Given the description of an element on the screen output the (x, y) to click on. 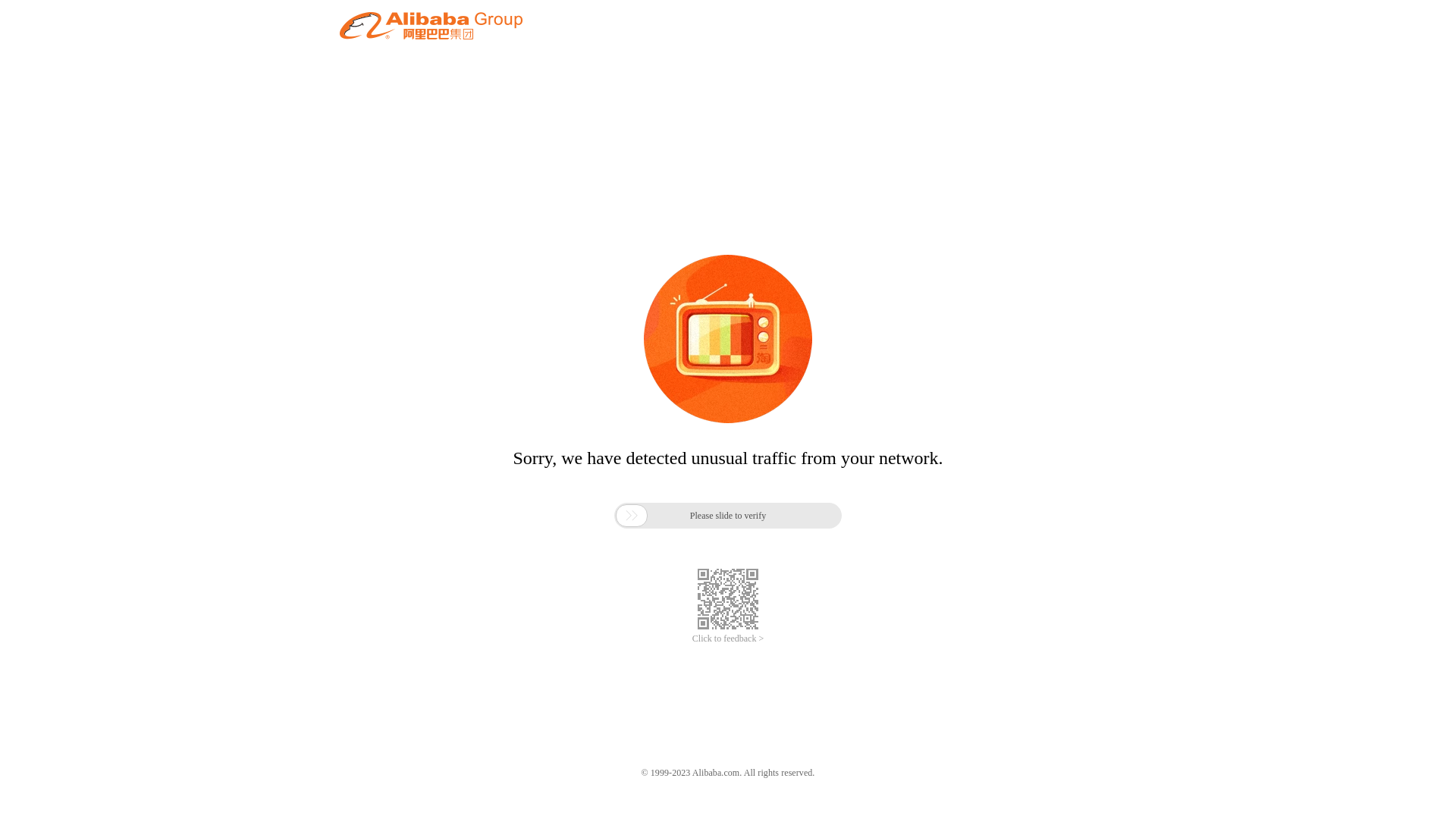
Click to feedback > Element type: text (727, 638)
